Given the description of an element on the screen output the (x, y) to click on. 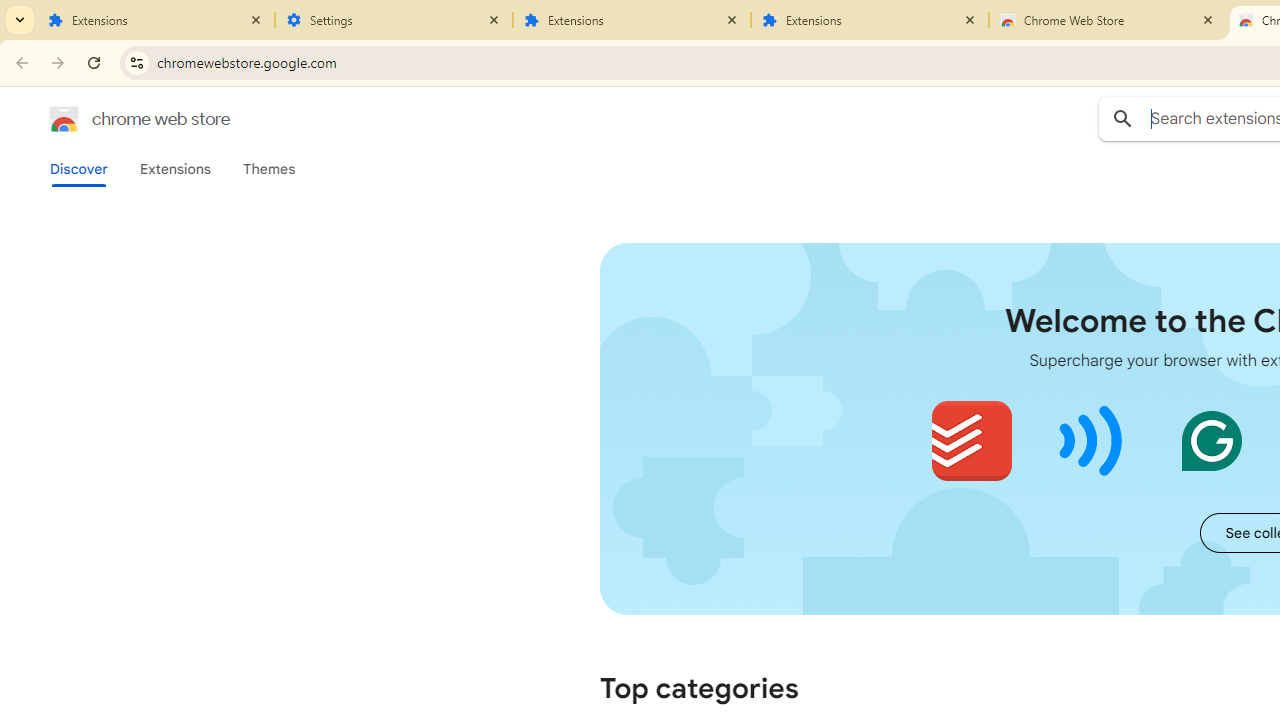
Themes (269, 169)
Chrome Web Store logo (63, 118)
Todoist for Chrome (971, 440)
Discover (79, 169)
Extensions (632, 20)
